Given the description of an element on the screen output the (x, y) to click on. 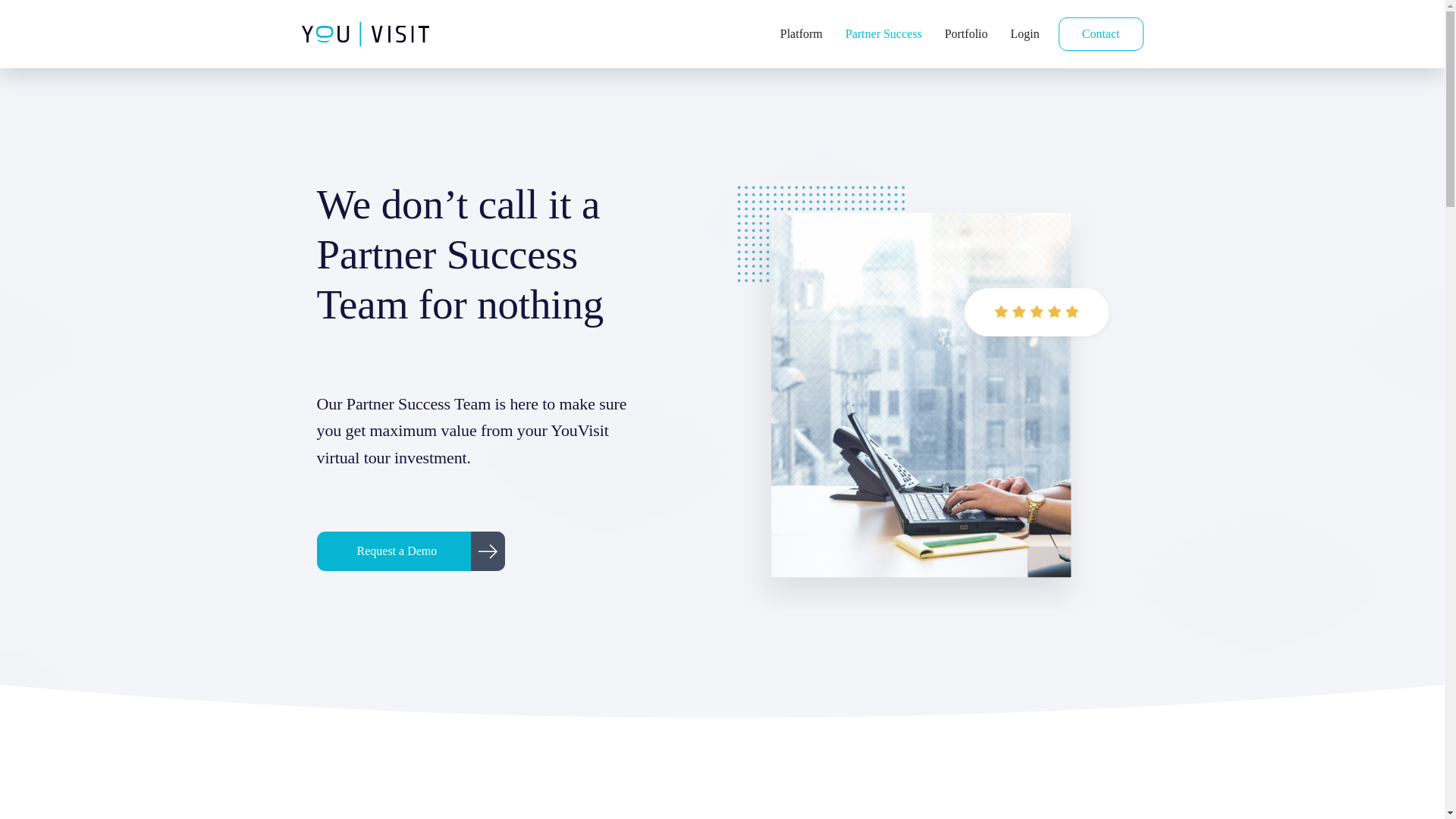
YouVisit (376, 33)
Request a Demo (411, 550)
Portfolio (965, 33)
Platform (801, 33)
Partner Success (883, 33)
Contact (1100, 33)
